Given the description of an element on the screen output the (x, y) to click on. 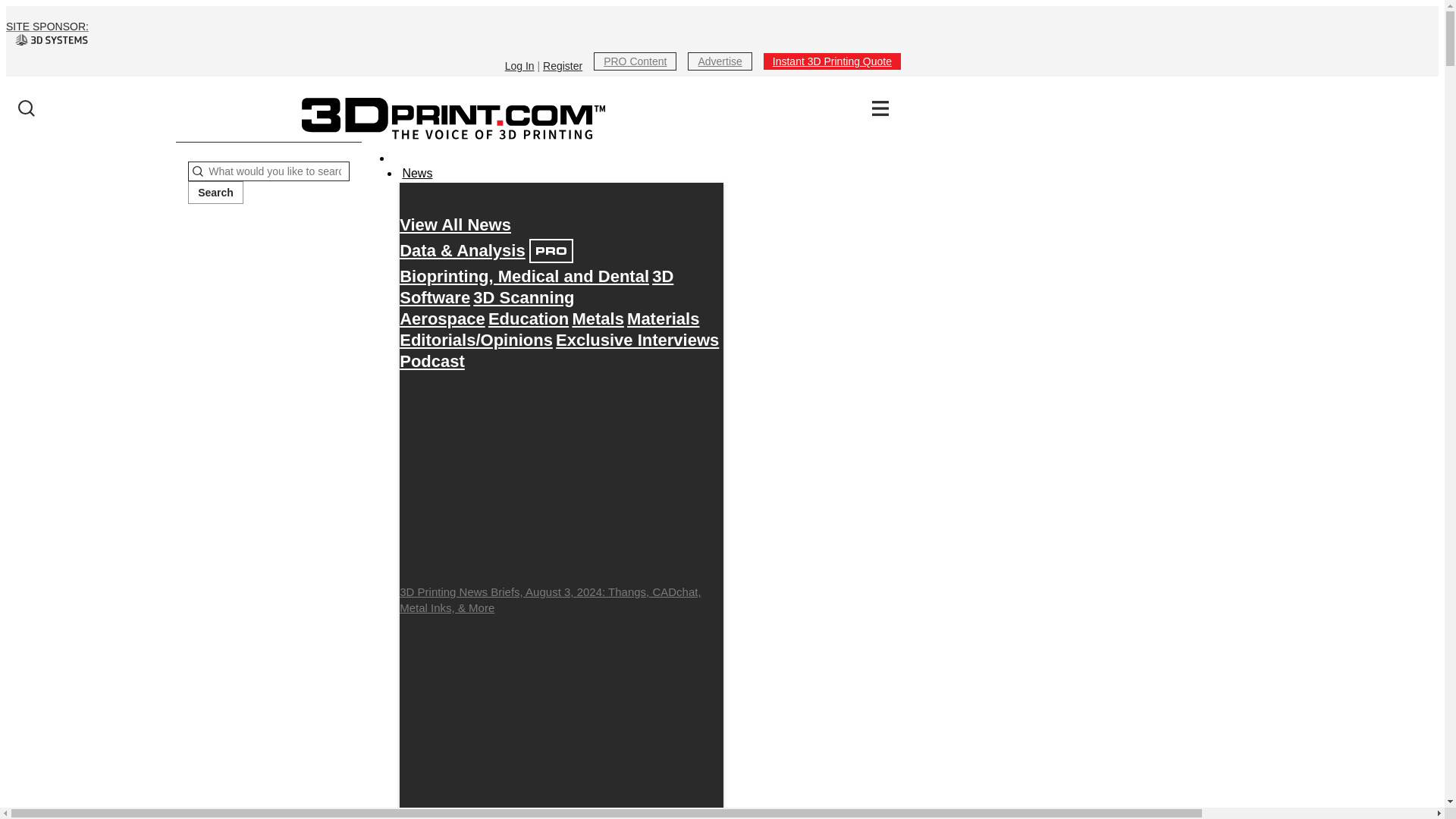
View All News (454, 224)
Log In (519, 65)
Materials (662, 318)
Search (215, 191)
Register (562, 65)
PRO Content (635, 60)
Metals (597, 318)
SITE SPONSOR: (453, 32)
3D Scanning (523, 297)
Instant 3D Printing Quote (831, 60)
3D Software (535, 286)
Podcast (431, 360)
Education (528, 318)
Bioprinting, Medical and Dental (523, 276)
